Given the description of an element on the screen output the (x, y) to click on. 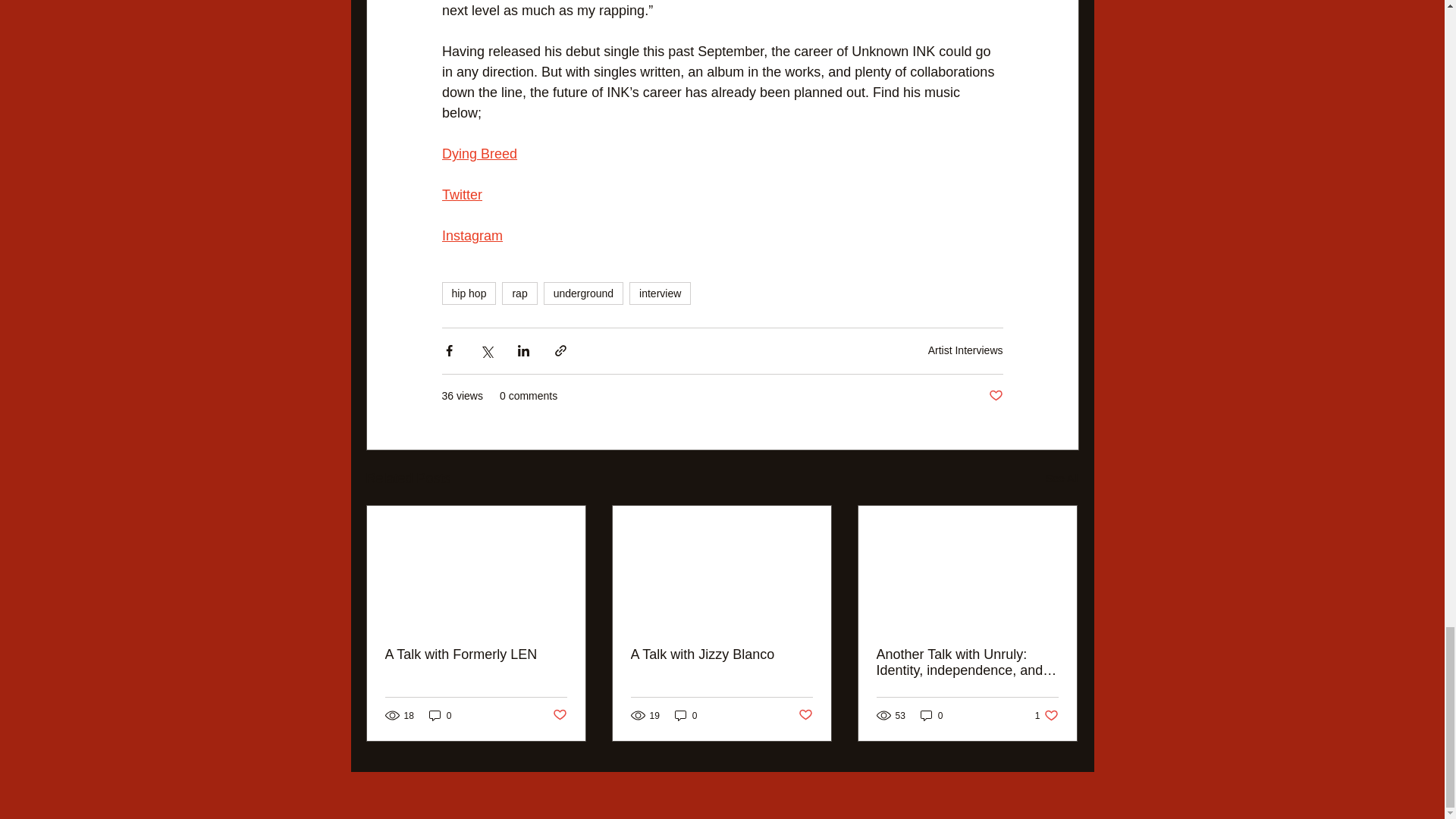
underground (583, 292)
hip hop (468, 292)
rap (519, 292)
Dying Breed (478, 154)
0 (440, 715)
See All (1061, 478)
Instagram (471, 236)
Post not marked as liked (804, 715)
A Talk with Formerly LEN (476, 654)
